Given the description of an element on the screen output the (x, y) to click on. 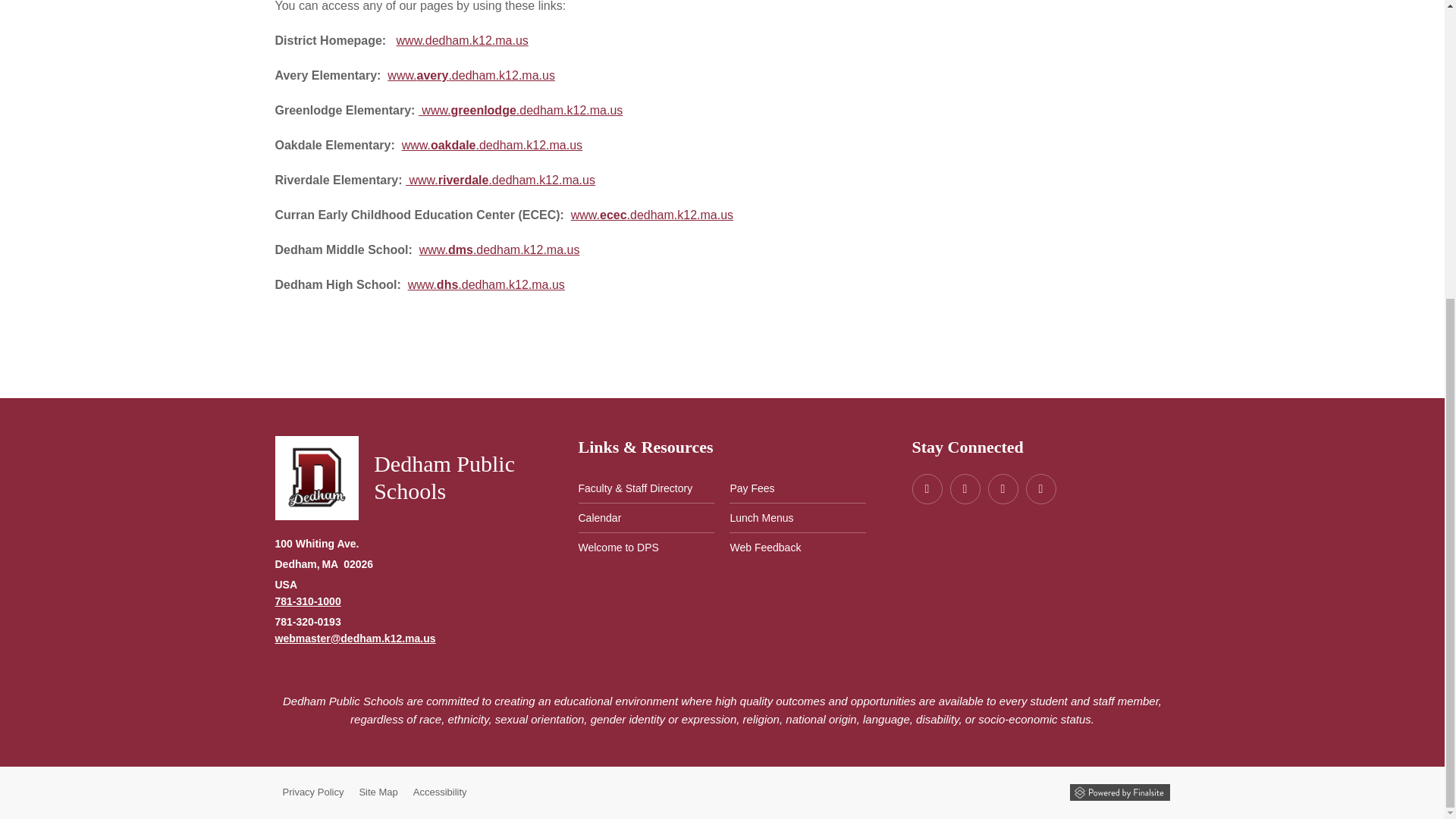
Email (355, 638)
Powered by Finalsite opens in a new window (1118, 791)
